Given the description of an element on the screen output the (x, y) to click on. 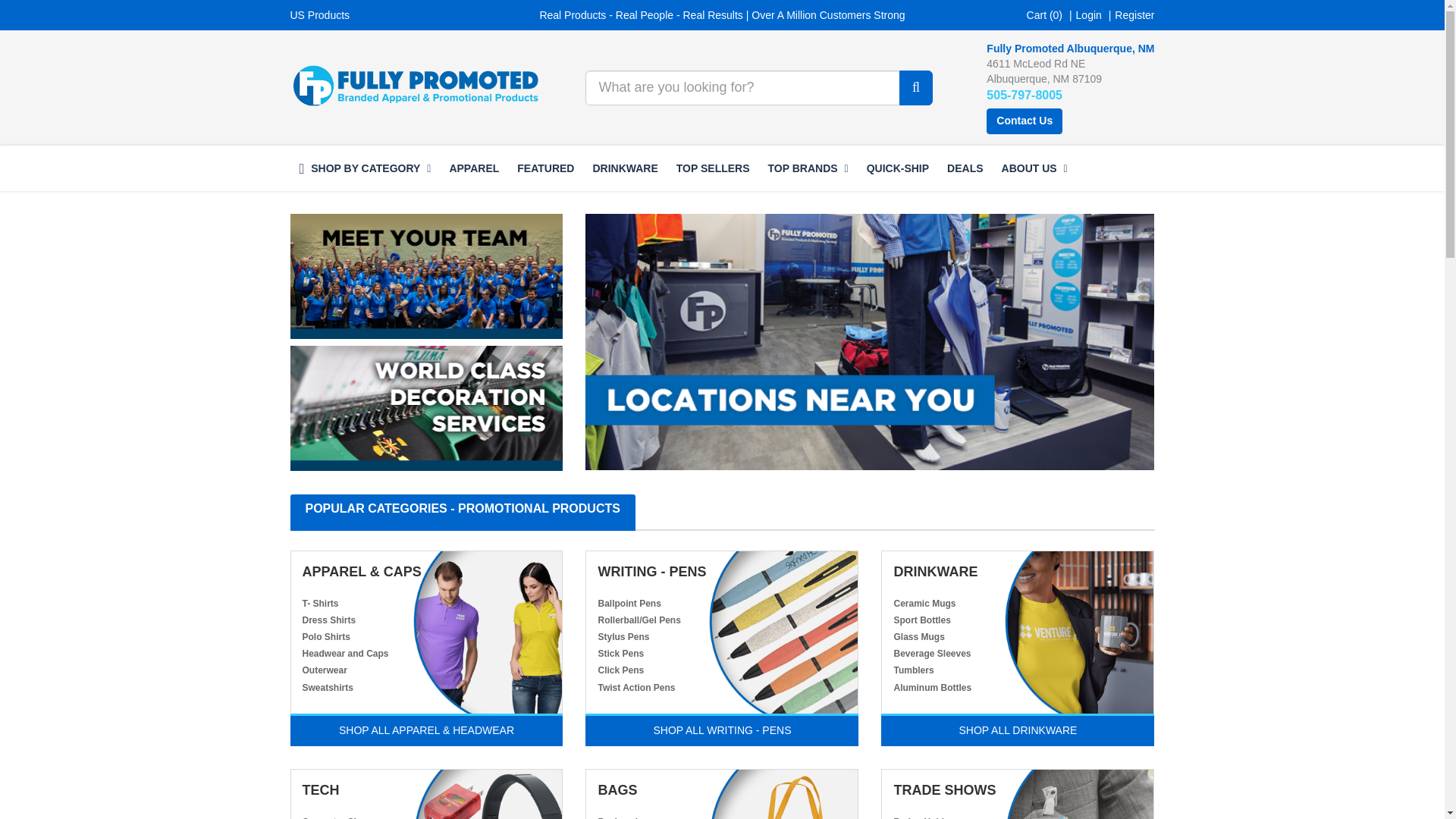
SHOP BY CATEGORY (364, 167)
Contact Us (1024, 121)
Register (1134, 15)
US Products (319, 15)
Login (1088, 15)
